Given the description of an element on the screen output the (x, y) to click on. 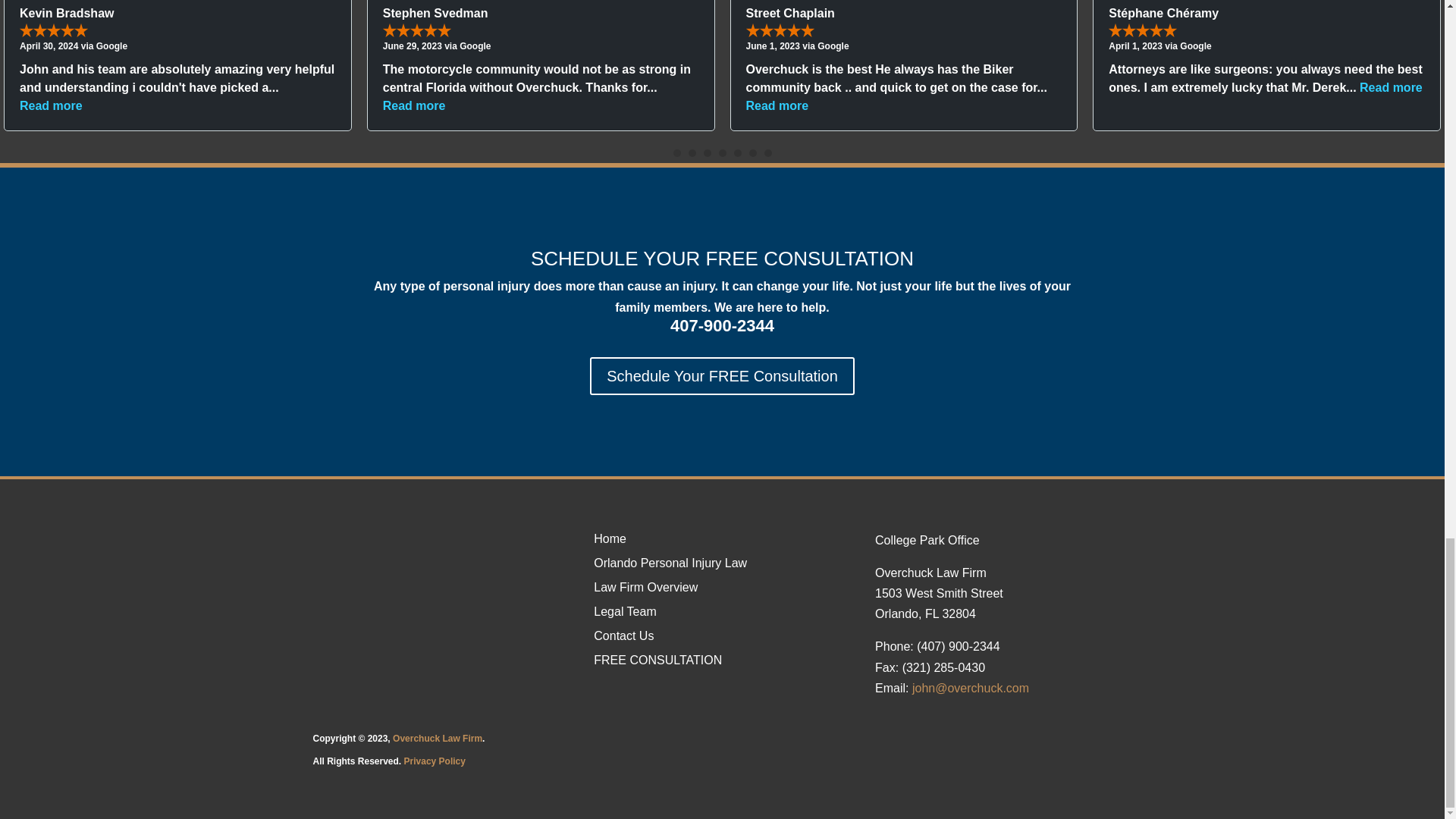
Read more (51, 105)
Read more (1390, 87)
Read more (413, 105)
Read more (777, 105)
